Given the description of an element on the screen output the (x, y) to click on. 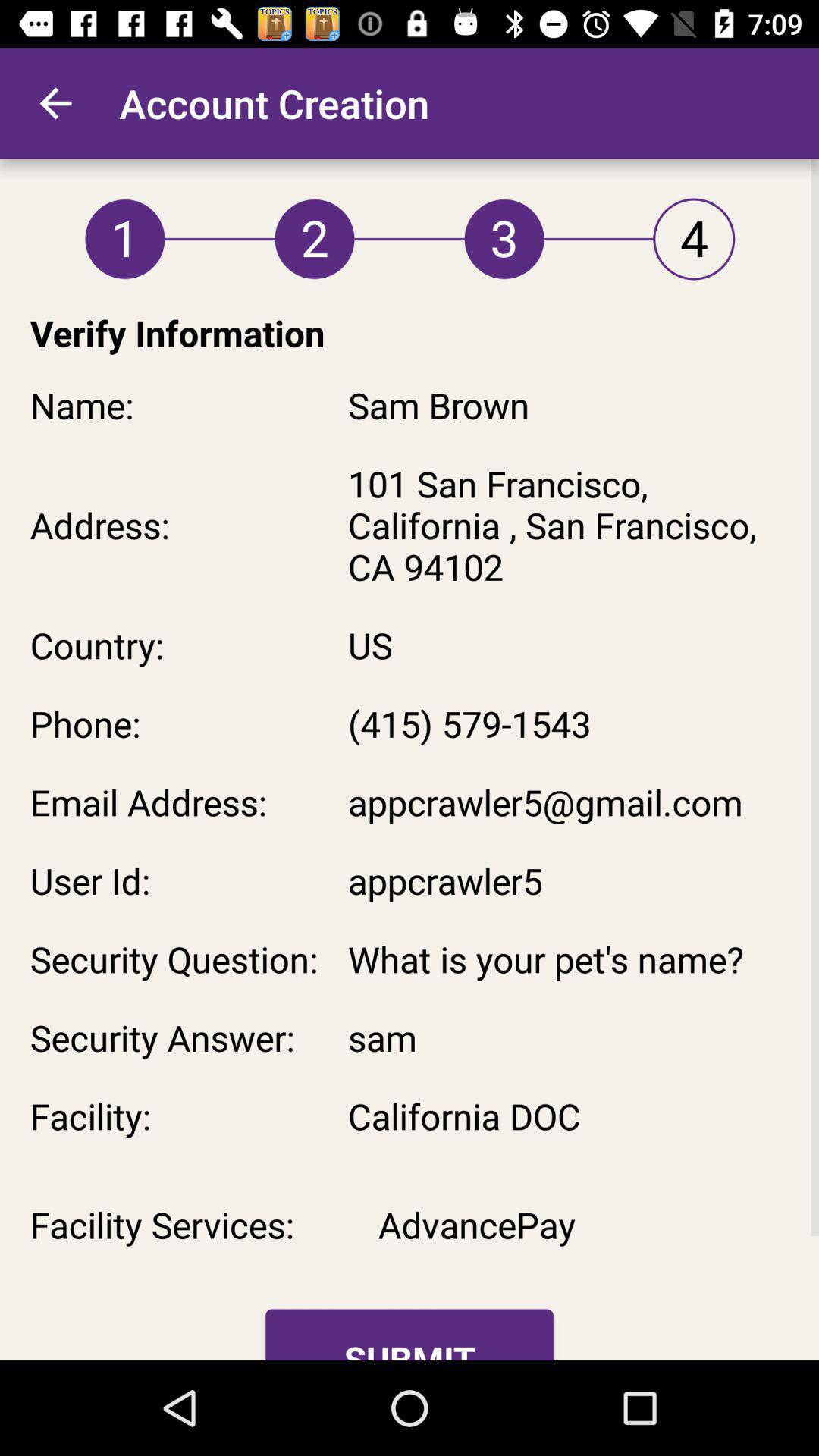
flip to the submit icon (409, 1334)
